Given the description of an element on the screen output the (x, y) to click on. 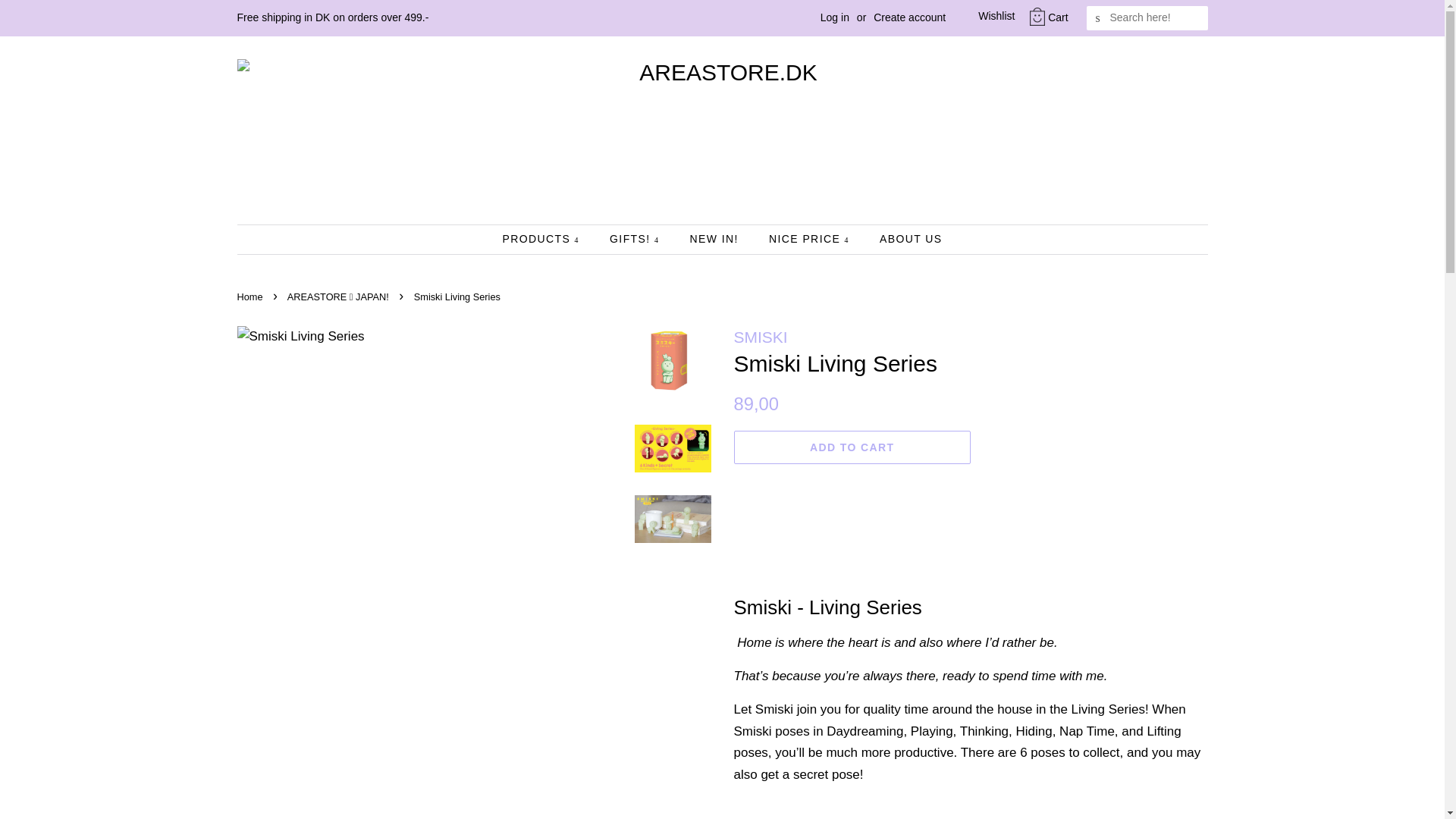
Create account (908, 17)
Wishlist (984, 16)
SEARCH (1097, 18)
Back to the frontpage (250, 296)
SMISKI (760, 336)
Cart (1057, 18)
Log in (834, 17)
